Given the description of an element on the screen output the (x, y) to click on. 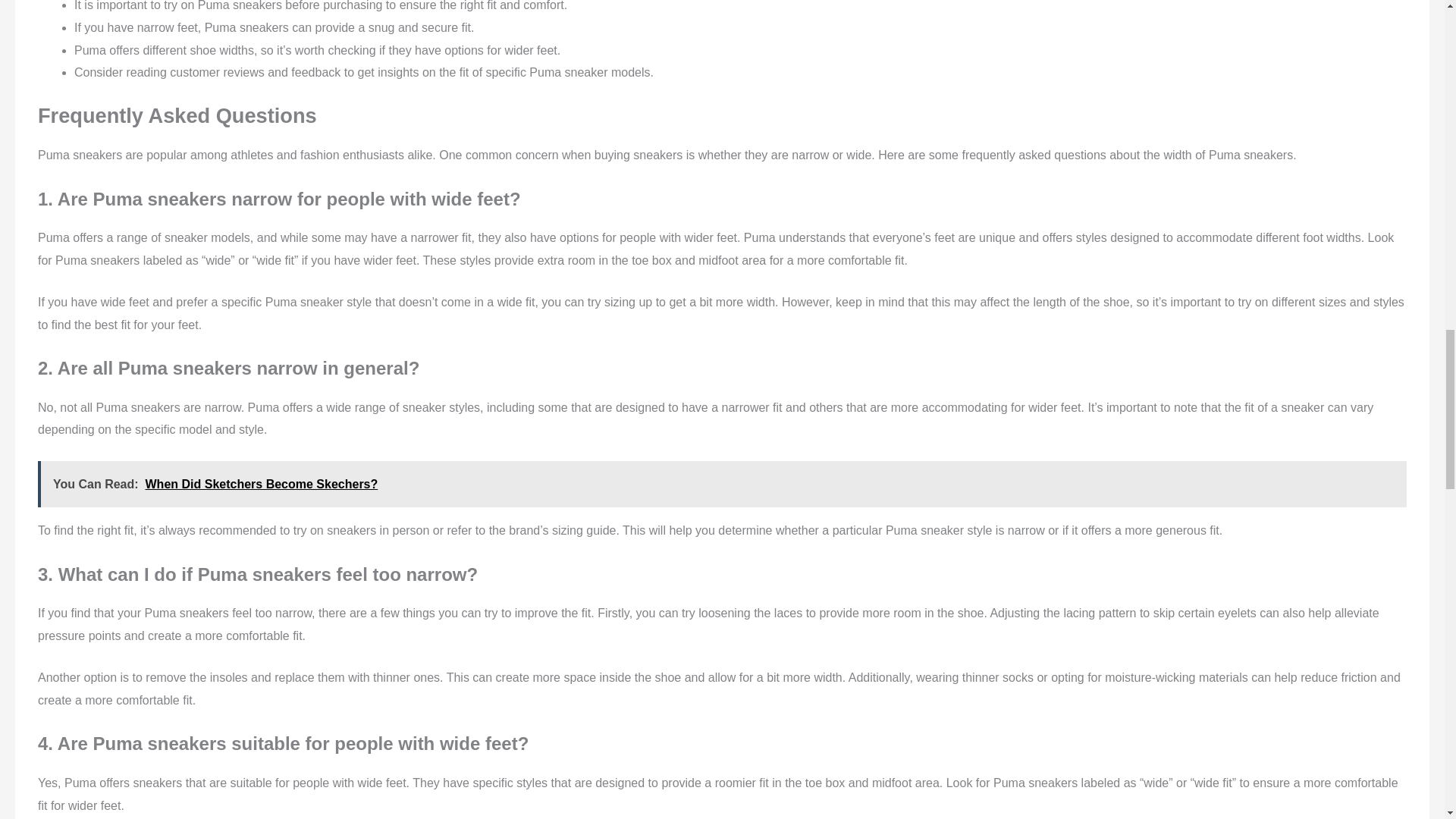
You Can Read:  When Did Sketchers Become Skechers? (721, 484)
